Given the description of an element on the screen output the (x, y) to click on. 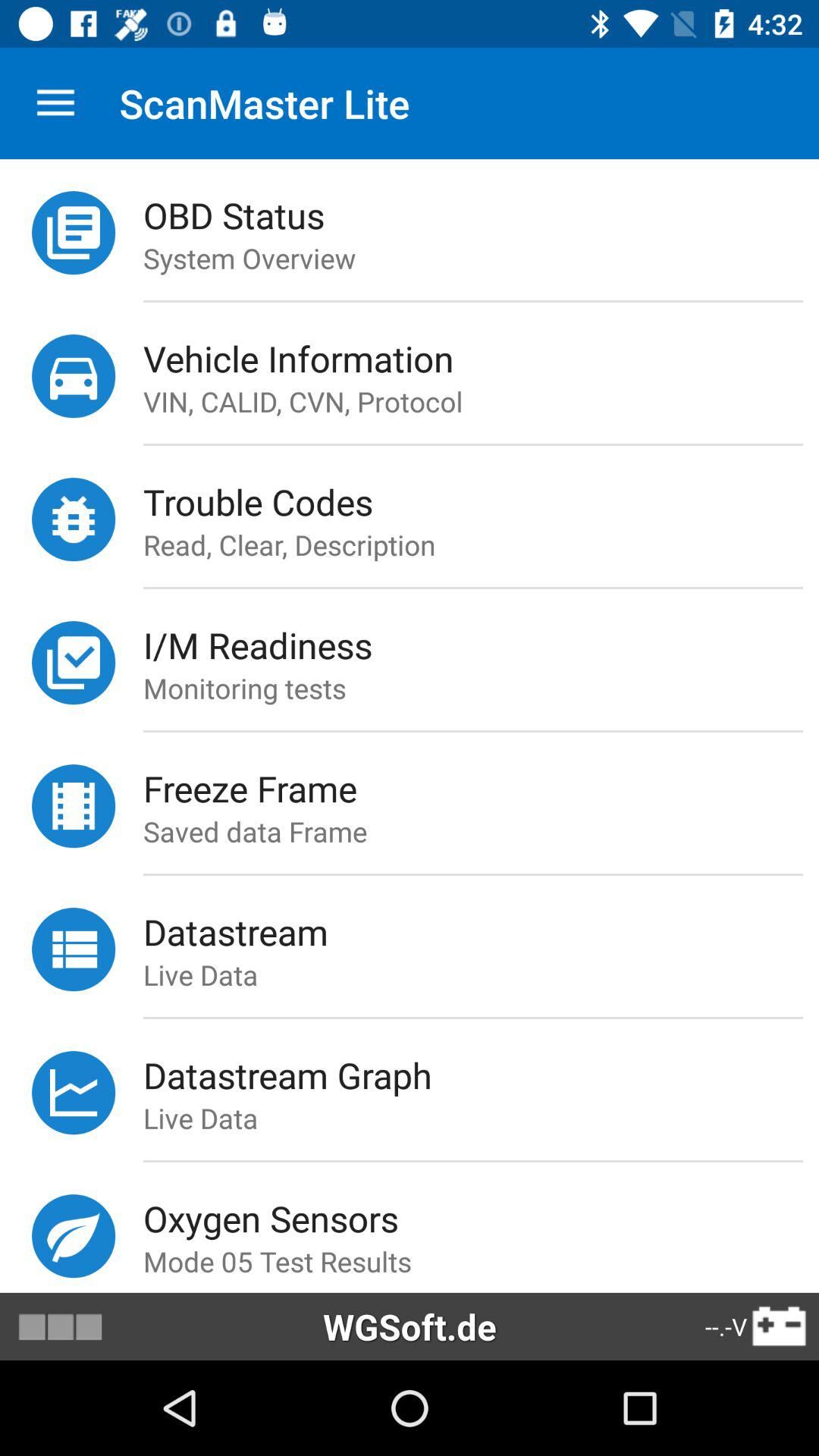
press icon above the monitoring tests icon (481, 645)
